Given the description of an element on the screen output the (x, y) to click on. 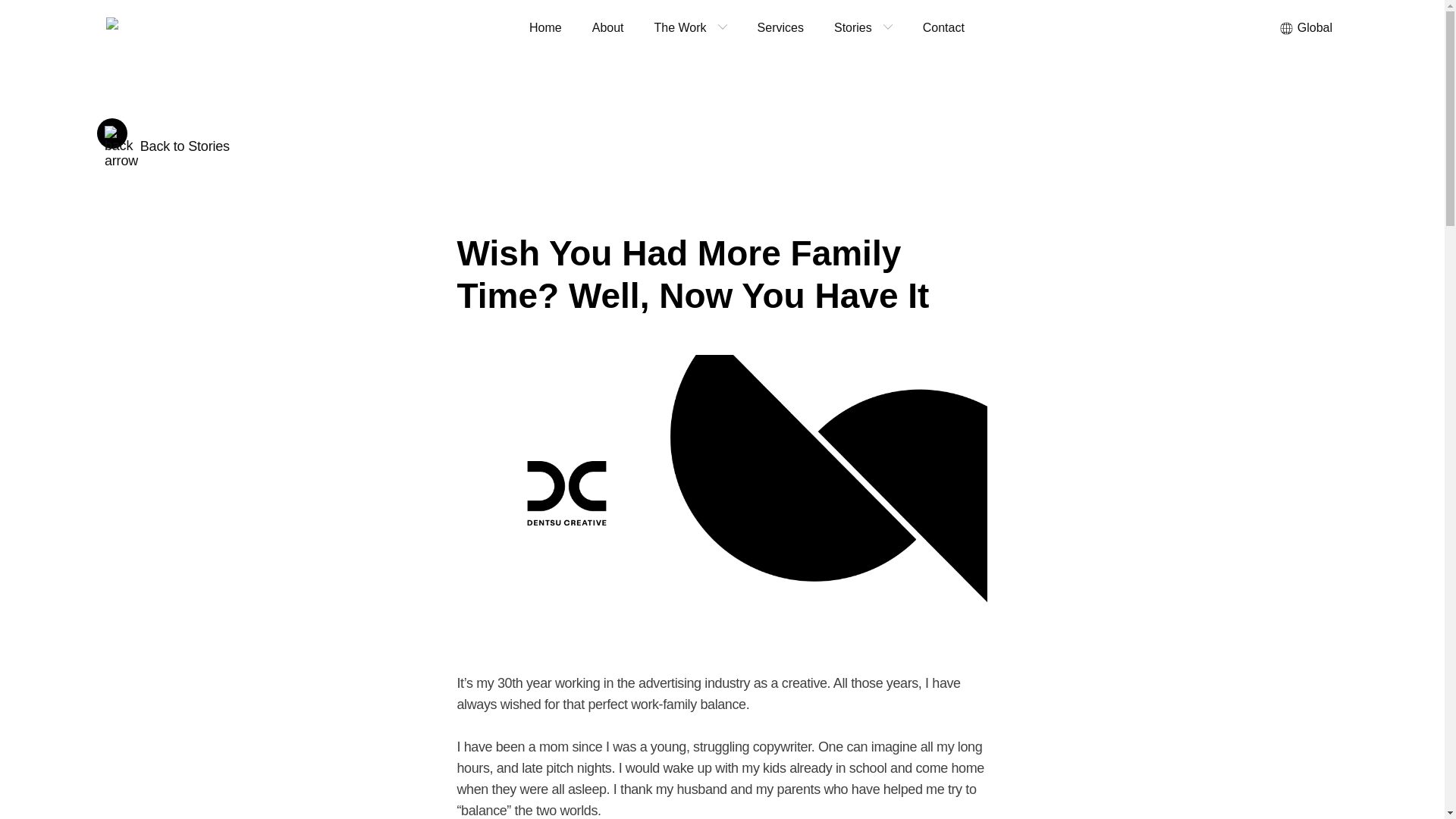
Back to Stories (163, 136)
Global (1305, 28)
The Work (680, 28)
Stories (852, 28)
Contact (944, 28)
About (608, 28)
Home (544, 28)
Services (780, 28)
